Given the description of an element on the screen output the (x, y) to click on. 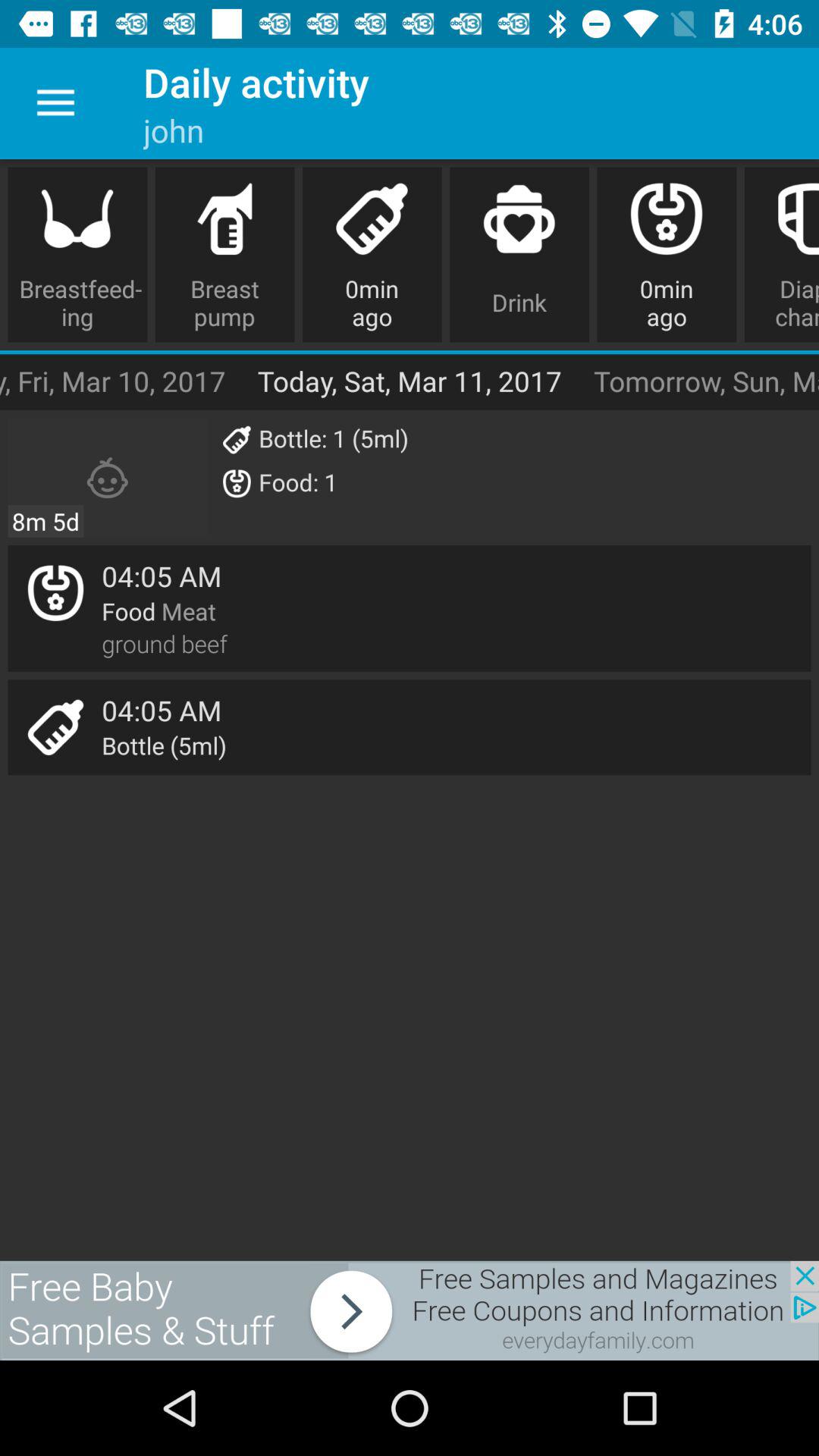
connect to advertisement (409, 1310)
